Given the description of an element on the screen output the (x, y) to click on. 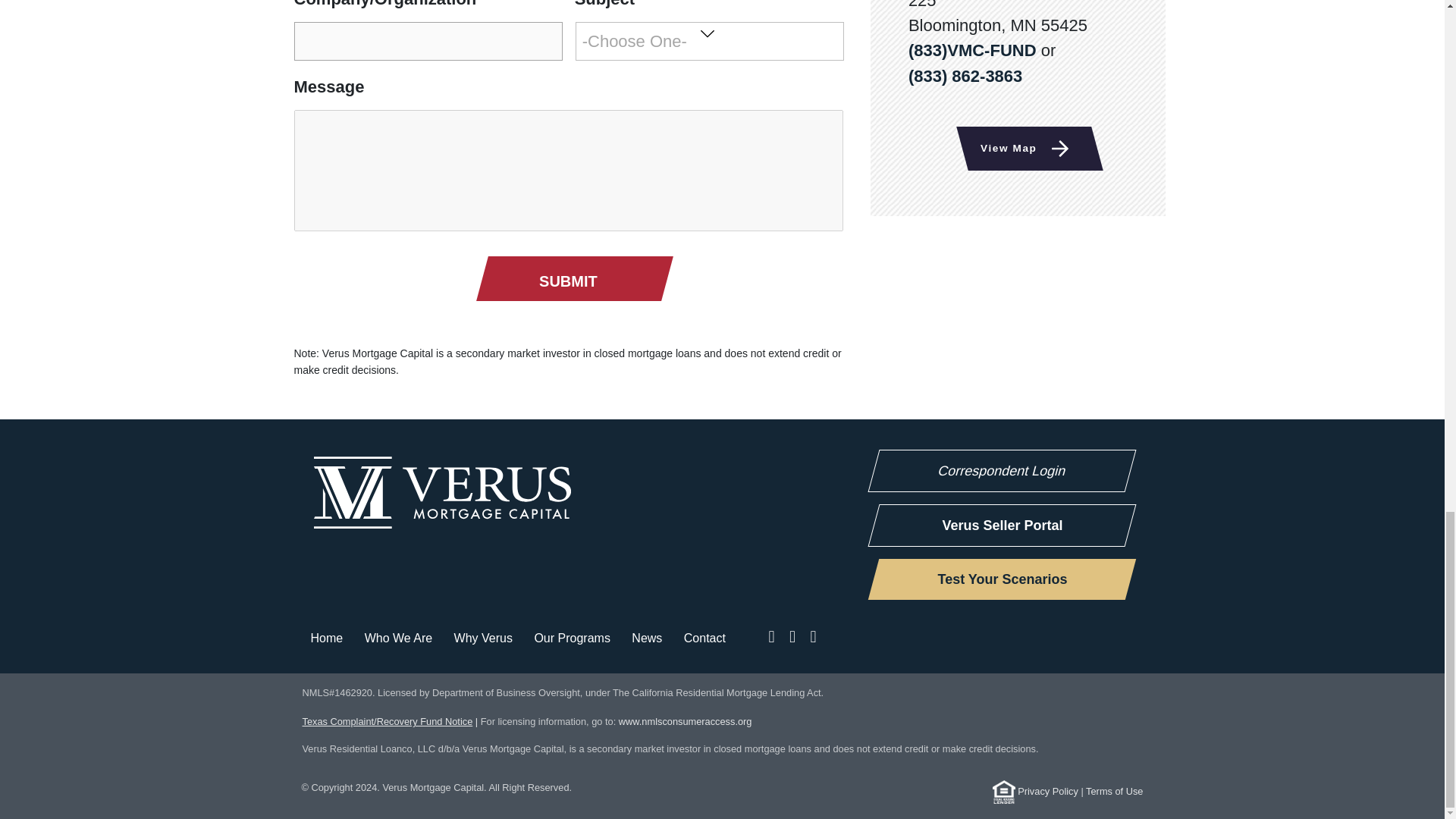
View Map (1023, 148)
Correspondent Login (996, 470)
Submit (567, 281)
Verus Seller Portal (996, 525)
Submit (567, 281)
